Given the description of an element on the screen output the (x, y) to click on. 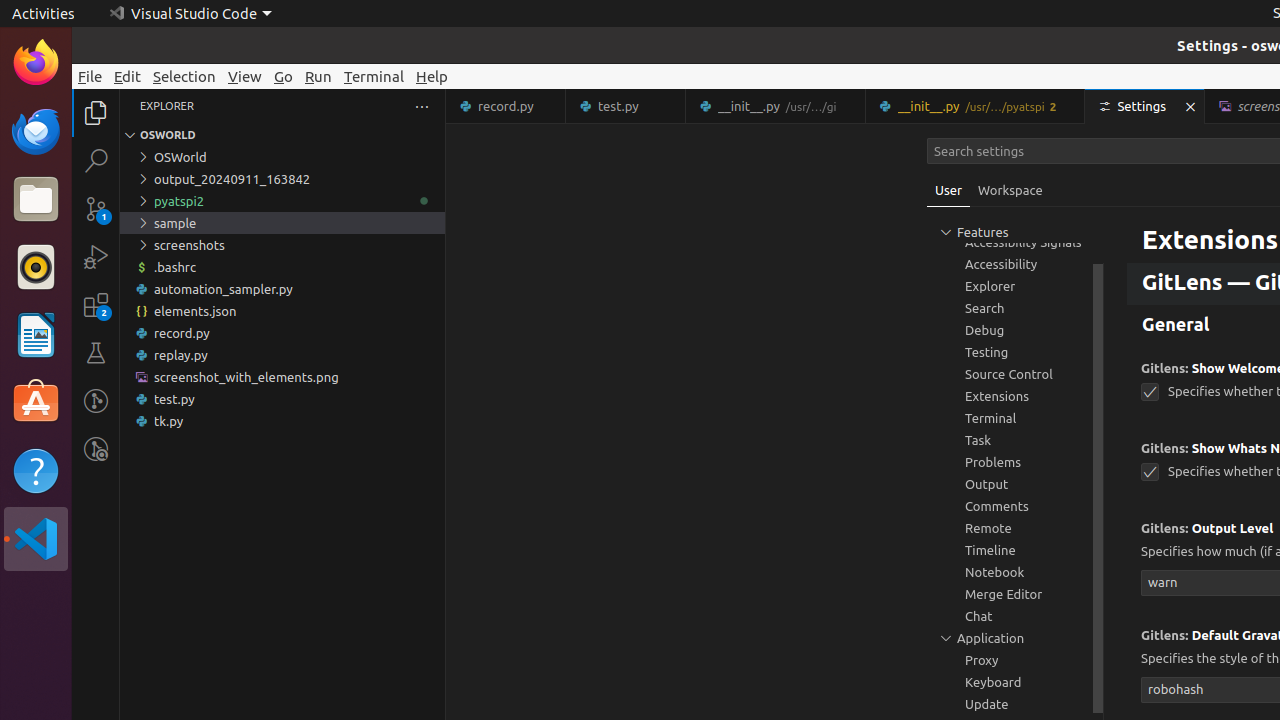
Explorer, group Element type: tree-item (1015, 286)
OSWorld Element type: tree-item (282, 157)
Proxy, group Element type: tree-item (1015, 660)
